Given the description of an element on the screen output the (x, y) to click on. 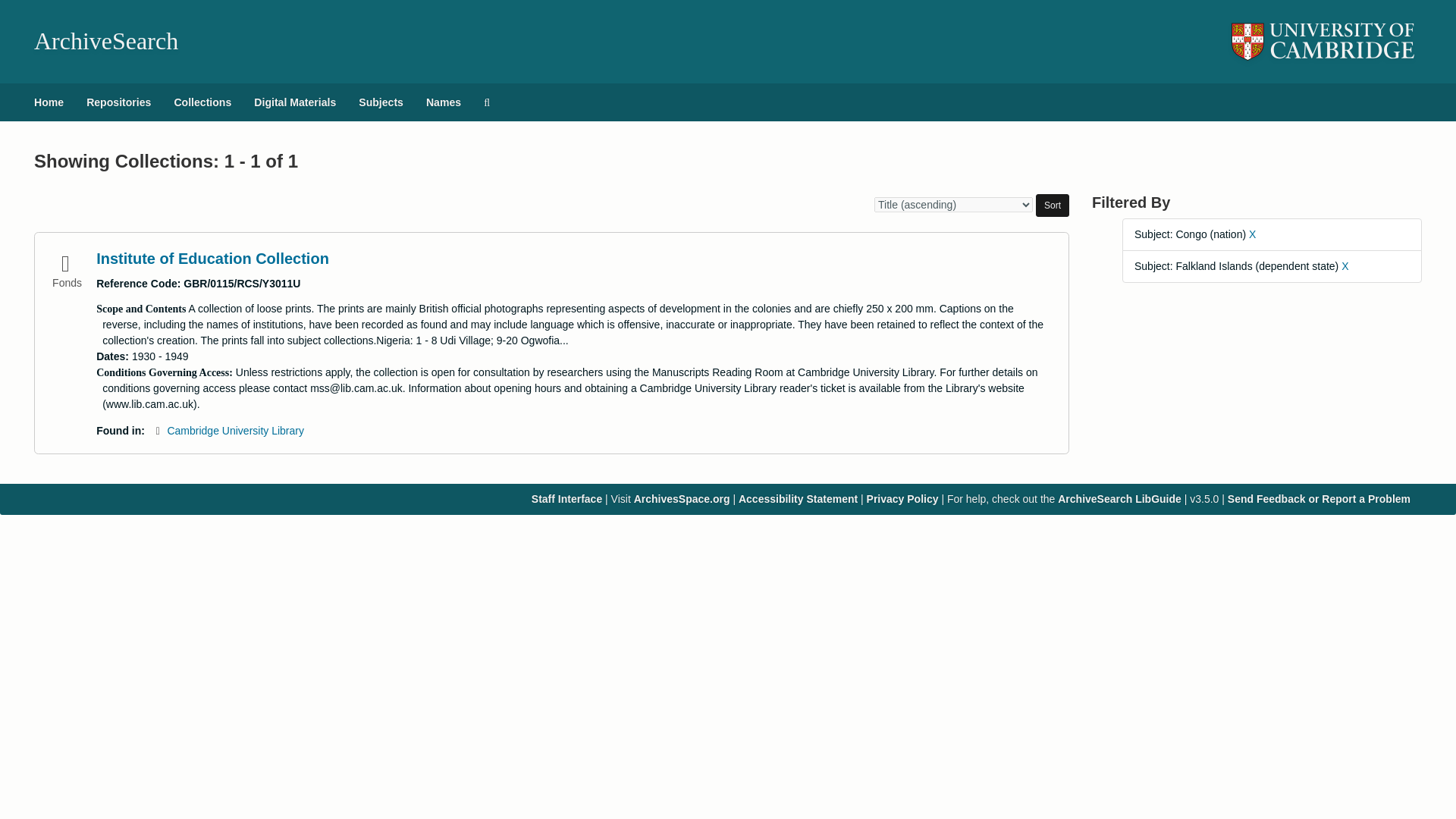
Staff Interface (566, 499)
Repositories (118, 102)
Return to the ArchiveSearch homepage (105, 40)
Digital Materials (295, 102)
Send Feedback or Report a Problem (1318, 499)
Privacy Policy (902, 499)
ArchivesSpace.org (681, 499)
Collections (202, 102)
Sort (1051, 205)
Institute of Education Collection (212, 258)
